Given the description of an element on the screen output the (x, y) to click on. 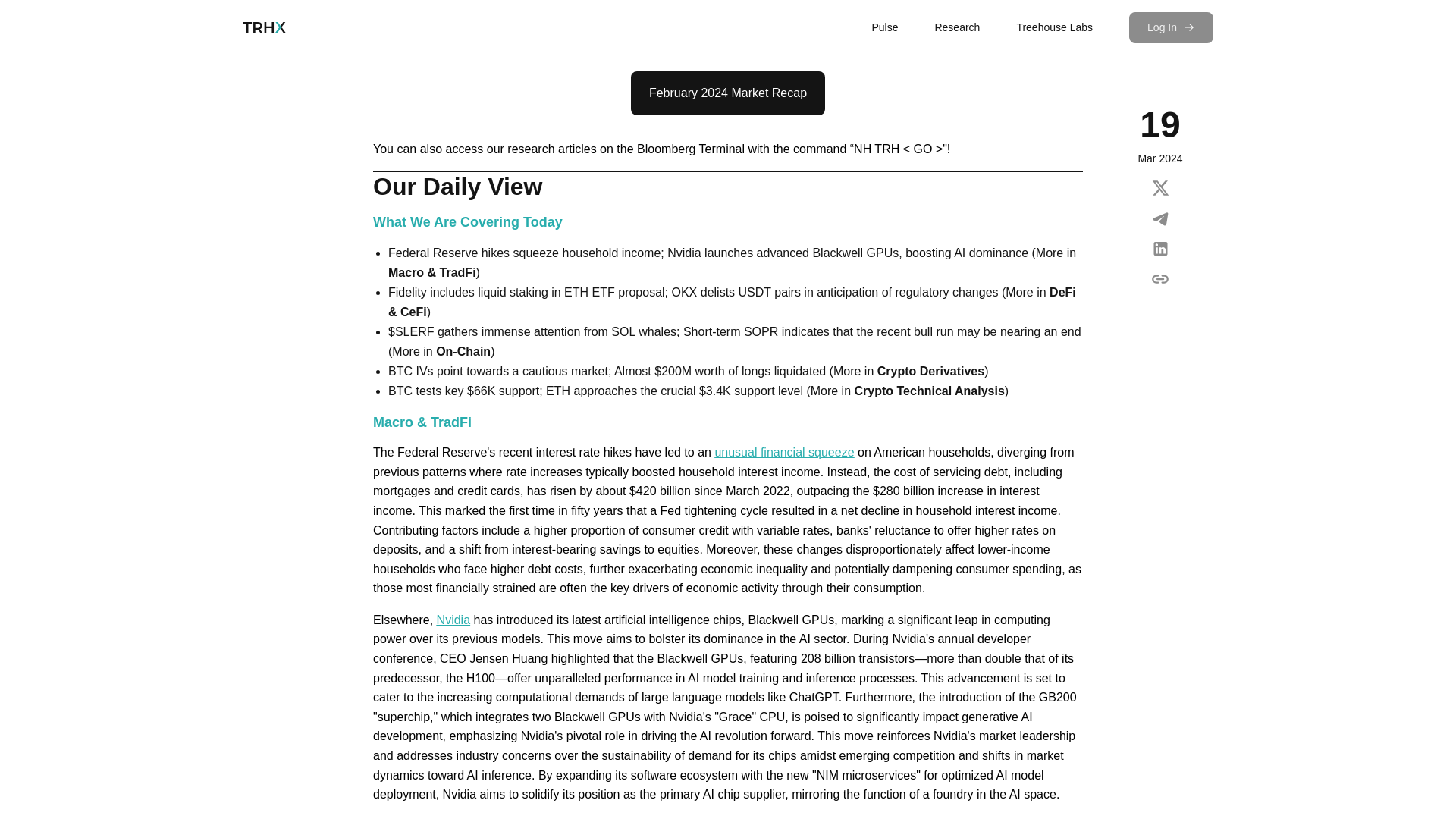
unusual financial squeeze (783, 451)
Nvidia (453, 619)
February 2024 Market Recap (727, 92)
